Given the description of an element on the screen output the (x, y) to click on. 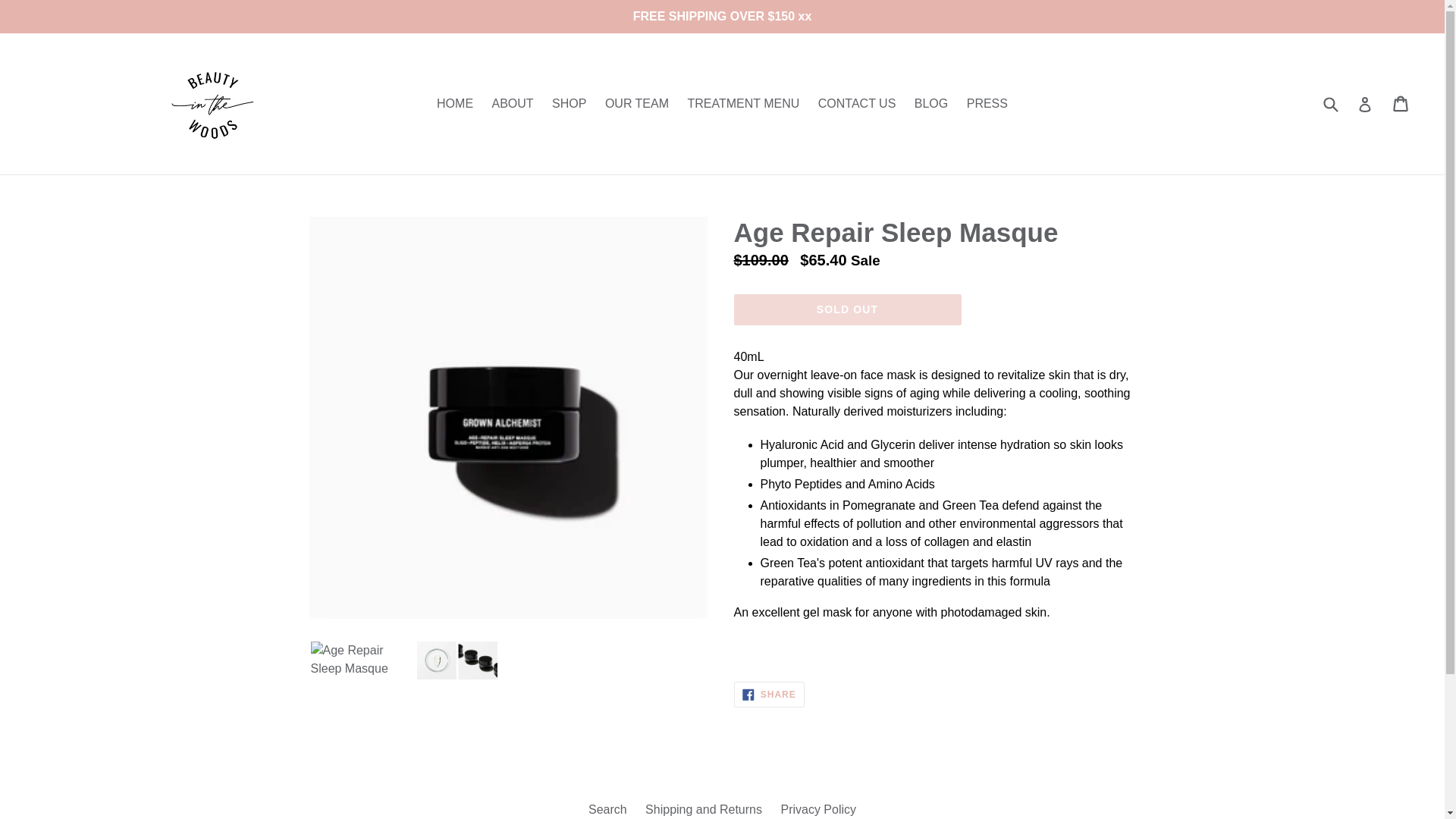
CONTACT US (769, 694)
TREATMENT MENU (857, 103)
BLOG (742, 103)
ABOUT (931, 103)
Search (511, 103)
SOLD OUT (607, 809)
PRESS (846, 309)
OUR TEAM (986, 103)
SHOP (636, 103)
Share on Facebook (569, 103)
Shipping and Returns (769, 694)
HOME (703, 809)
Privacy Policy (454, 103)
